Given the description of an element on the screen output the (x, y) to click on. 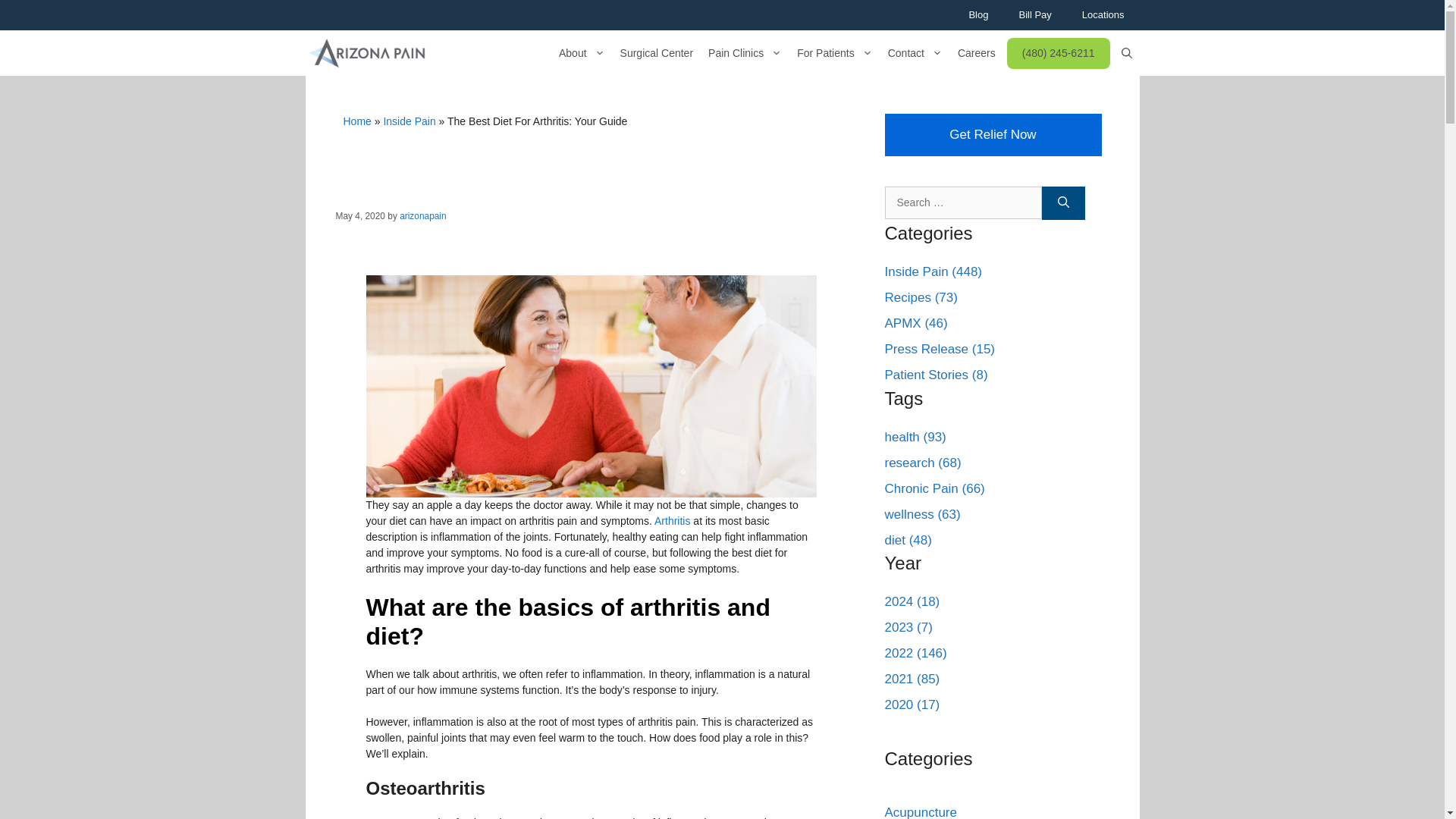
Blog (978, 15)
Search for: (962, 202)
About (581, 53)
View all posts by arizonapain (421, 215)
Bill Pay (1034, 15)
The Best Diet For Arthritis: Your Guide 1 (590, 386)
Arizona Pain (366, 53)
Locations (1103, 15)
